Given the description of an element on the screen output the (x, y) to click on. 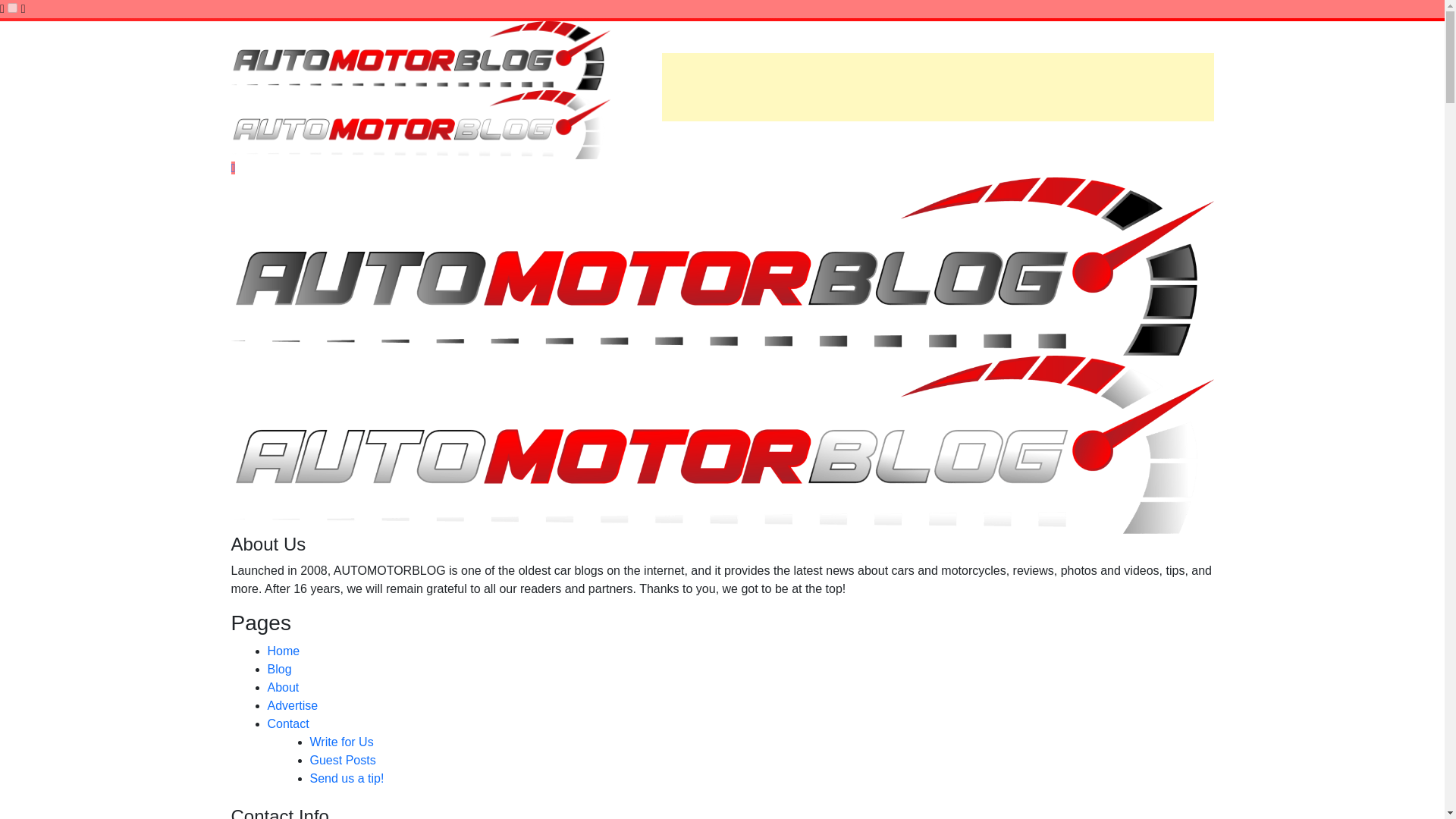
Guest Posts (341, 759)
Send us a tip! (346, 778)
on (12, 8)
Contact (287, 723)
Write for Us (340, 741)
Advertise (291, 705)
Home (282, 650)
Blog (278, 668)
About (282, 686)
